Given the description of an element on the screen output the (x, y) to click on. 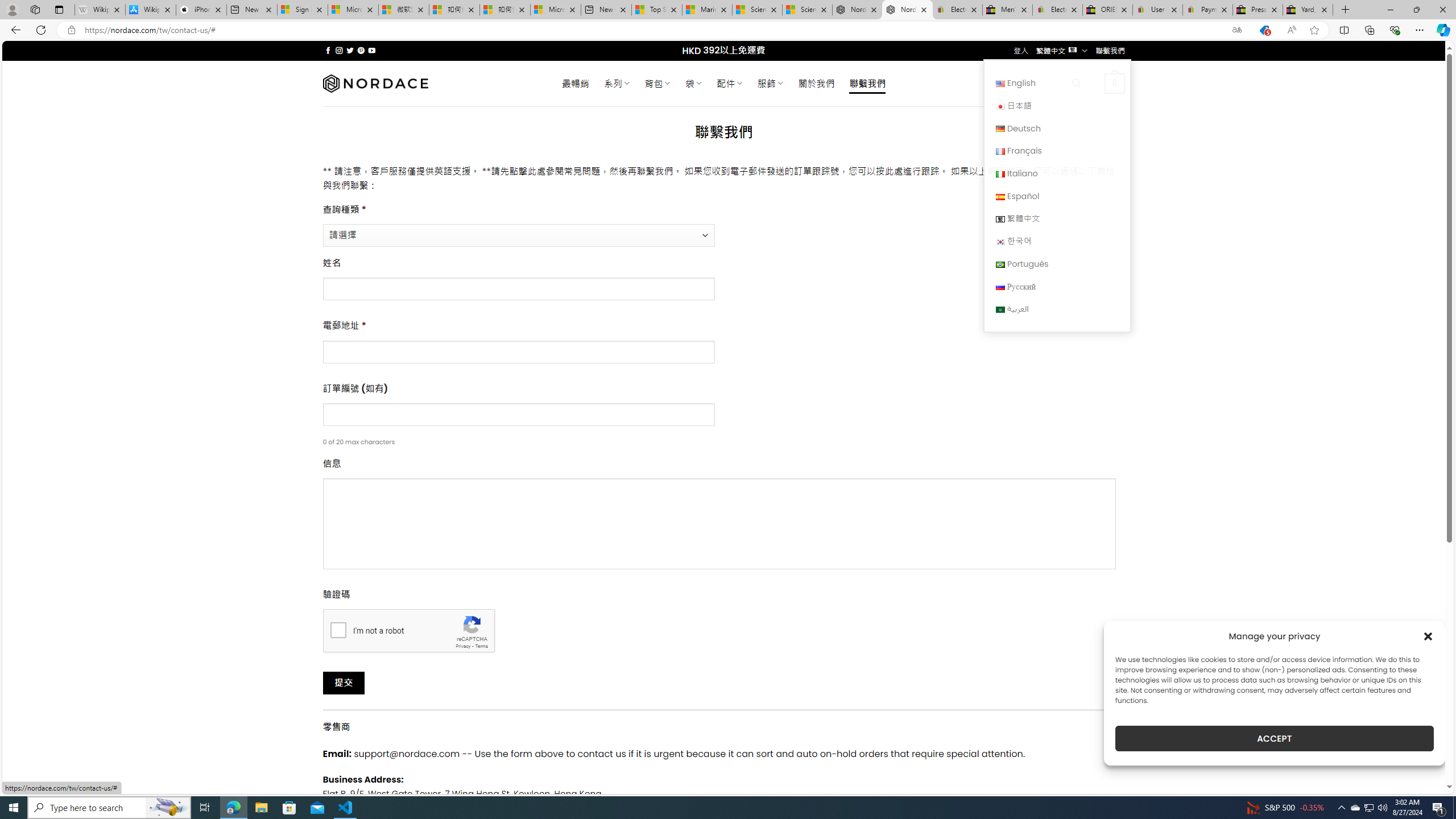
Deutsch (999, 128)
 English (1056, 83)
